Given the description of an element on the screen output the (x, y) to click on. 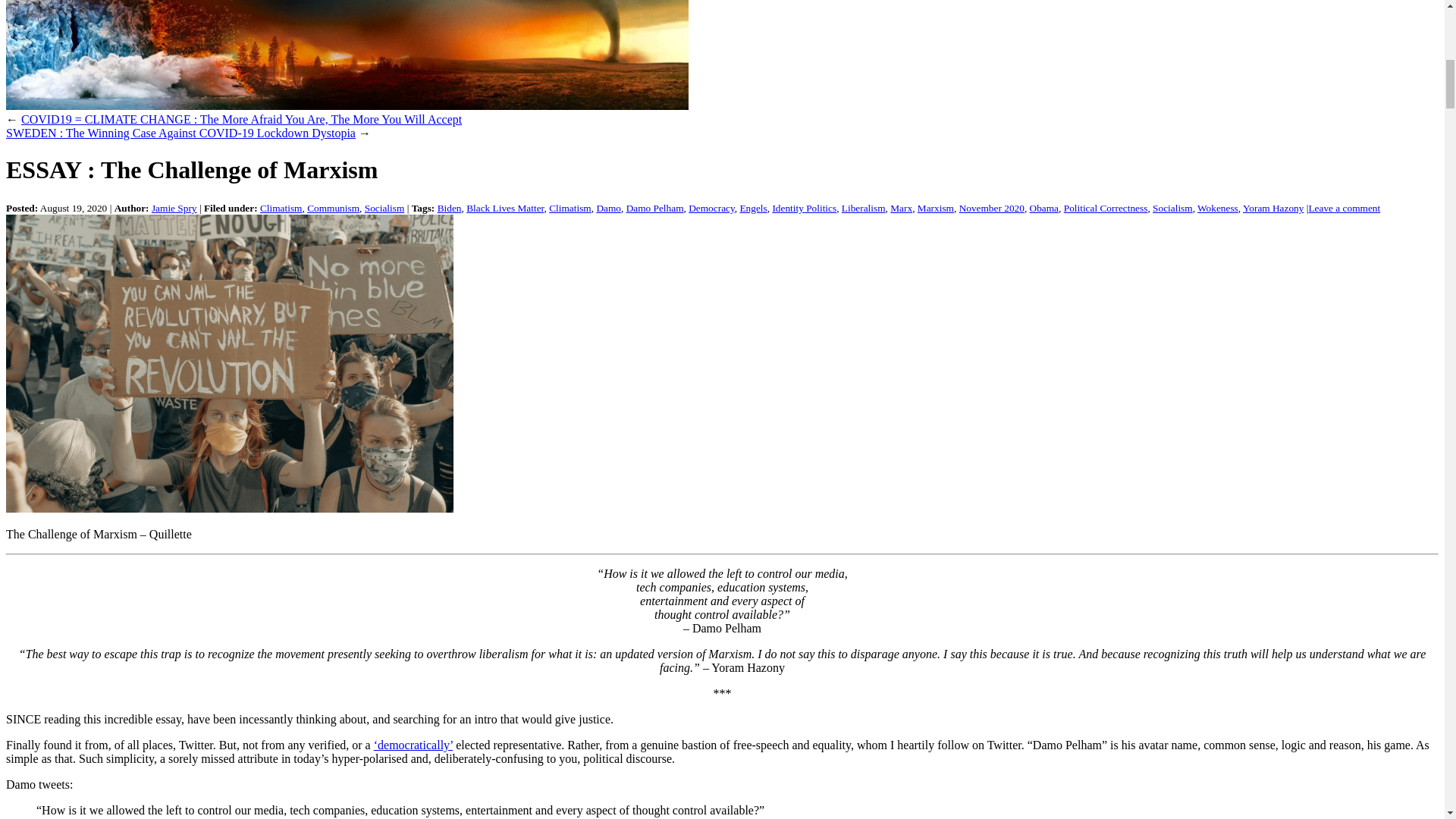
Posts by Jamie Spry (173, 207)
